Given the description of an element on the screen output the (x, y) to click on. 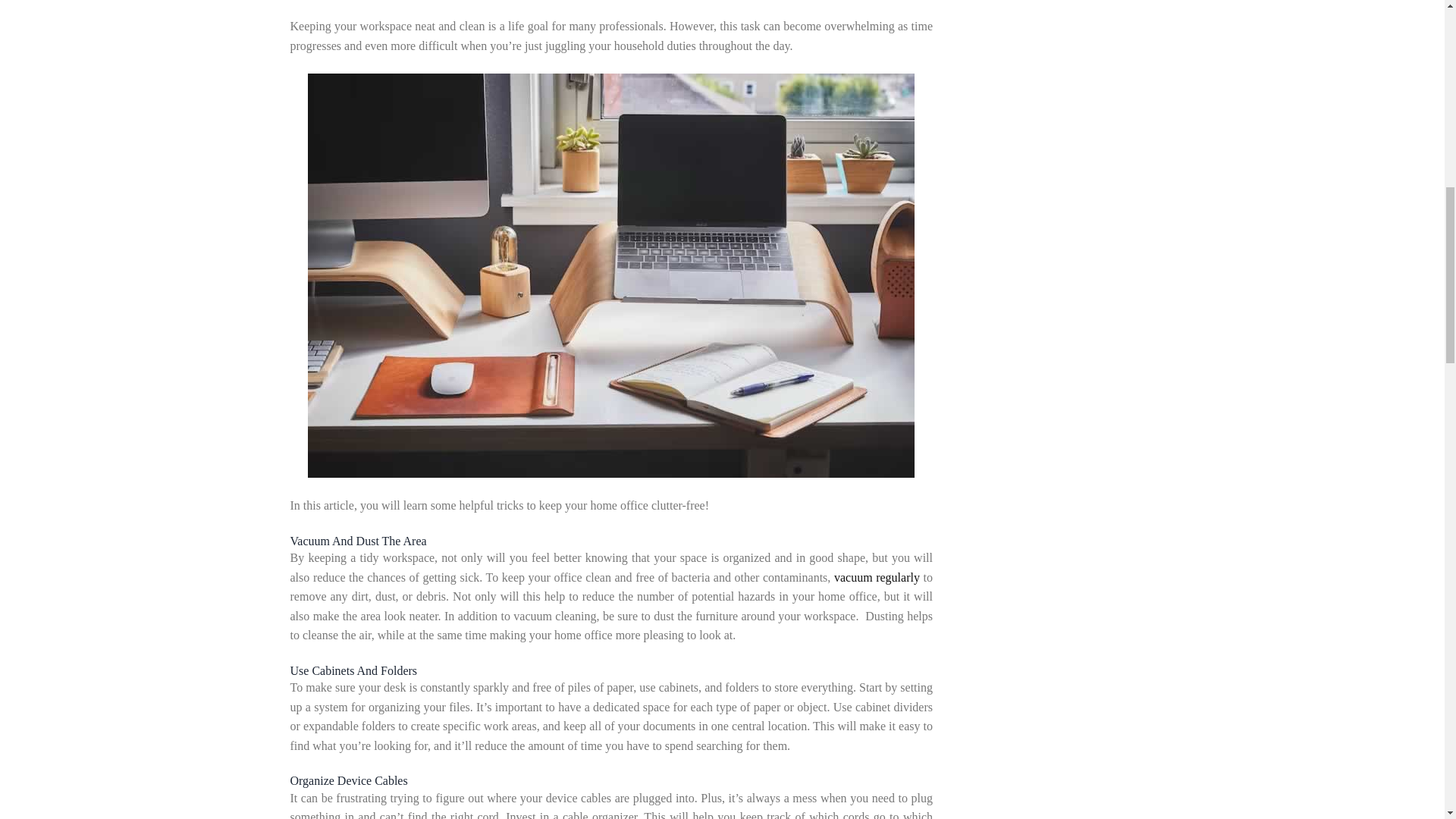
Go to top (1406, 22)
